Given the description of an element on the screen output the (x, y) to click on. 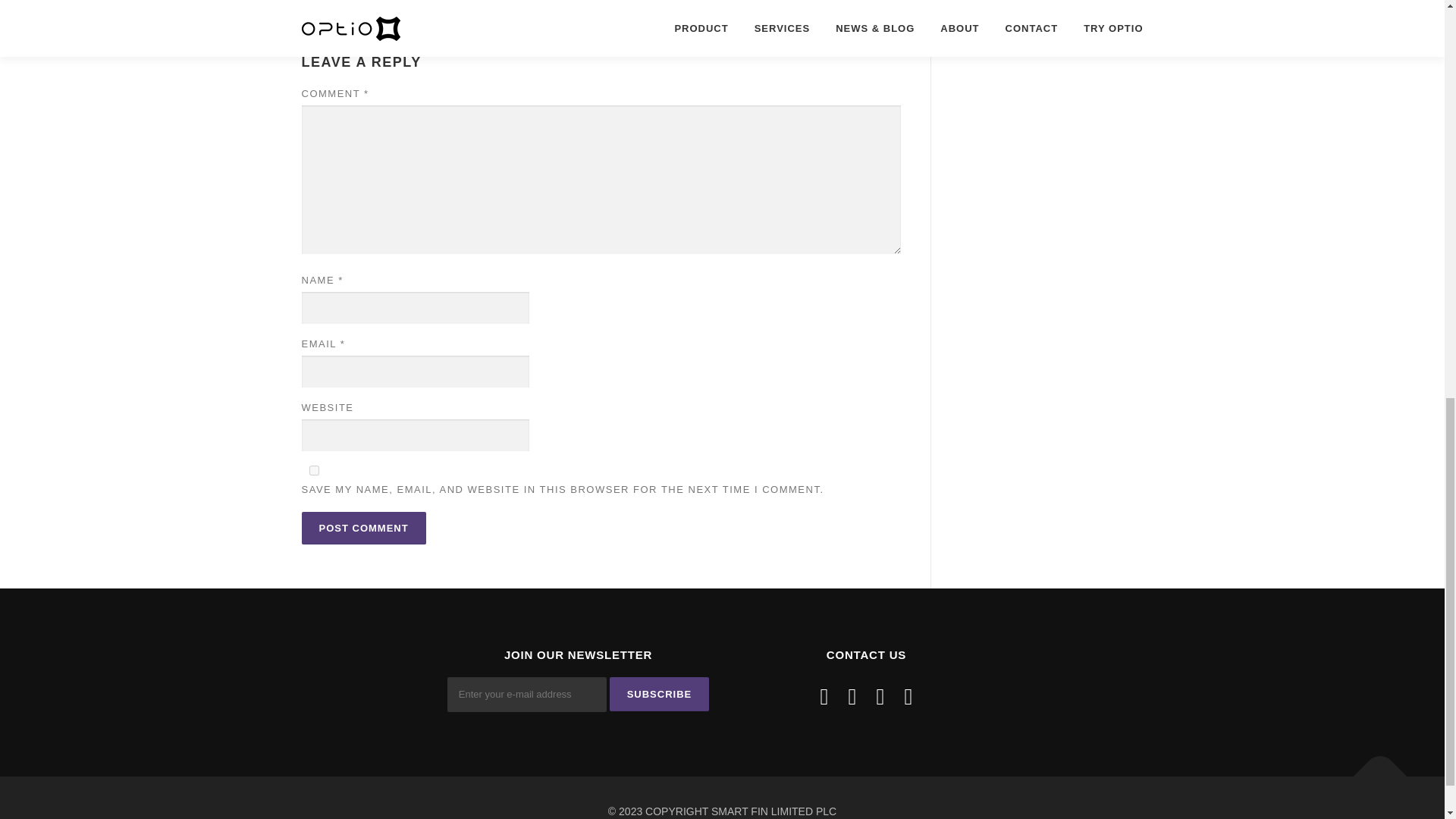
yes (313, 470)
Subscribe (660, 694)
Post Comment (363, 527)
Post Comment (363, 527)
Back To Top (1372, 768)
